Given the description of an element on the screen output the (x, y) to click on. 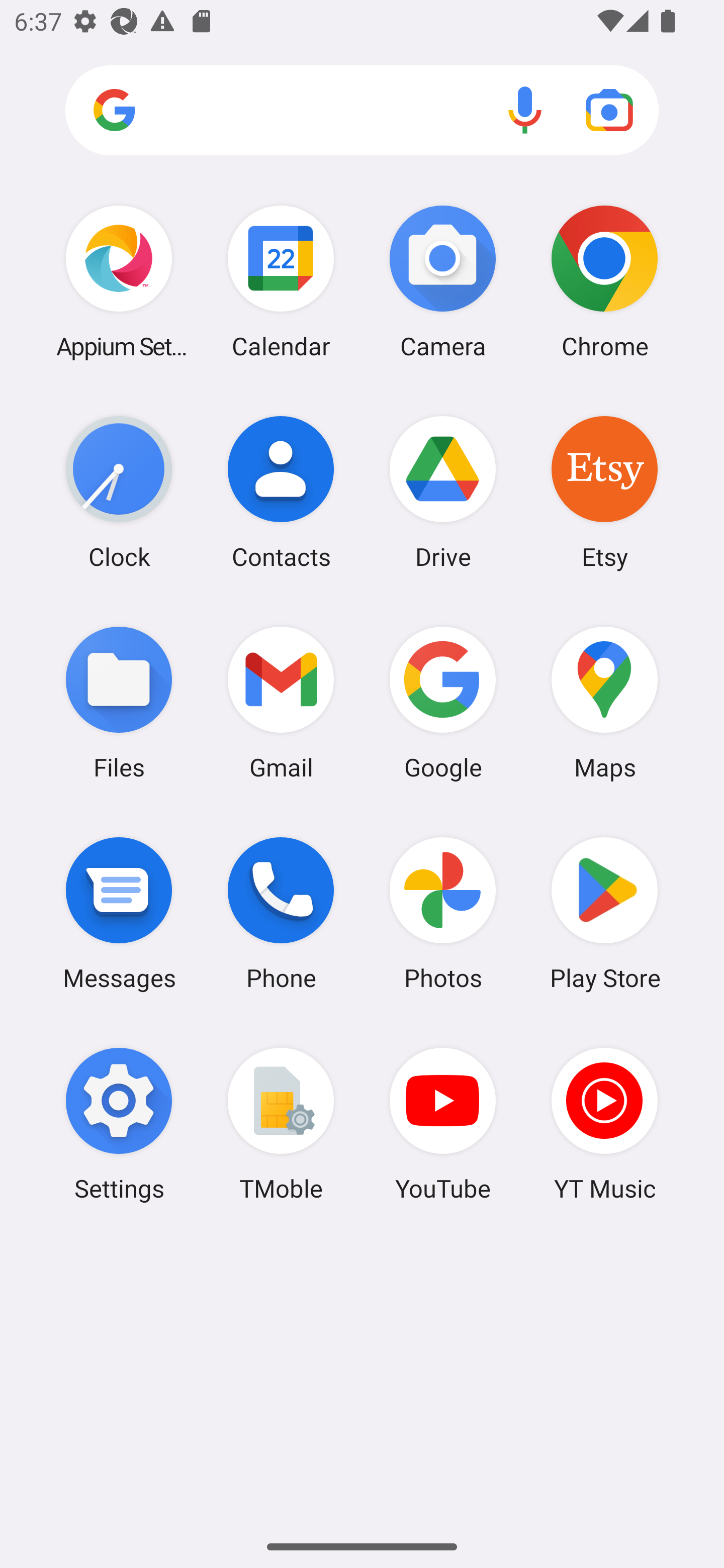
Search apps, web and more (361, 110)
Voice search (524, 109)
Google Lens (608, 109)
Appium Settings (118, 281)
Calendar (280, 281)
Camera (443, 281)
Chrome (604, 281)
Clock (118, 492)
Contacts (280, 492)
Drive (443, 492)
Etsy (604, 492)
Files (118, 702)
Gmail (280, 702)
Google (443, 702)
Maps (604, 702)
Messages (118, 913)
Phone (280, 913)
Photos (443, 913)
Play Store (604, 913)
Settings (118, 1124)
TMoble (280, 1124)
YouTube (443, 1124)
YT Music (604, 1124)
